Given the description of an element on the screen output the (x, y) to click on. 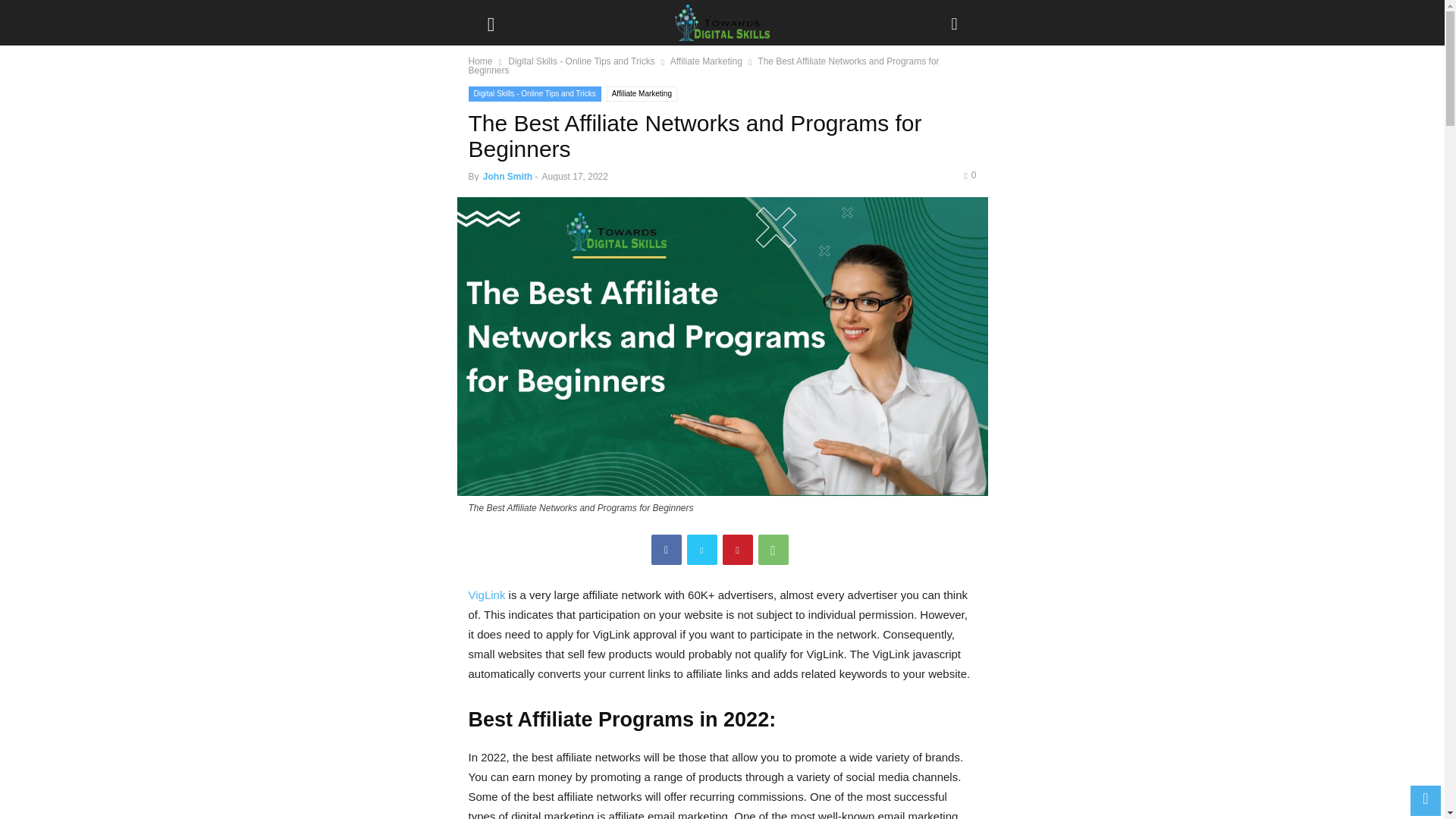
Digital Skills - Online Tips and Tricks (580, 61)
View all posts in Digital Skills - Online Tips and Tricks (580, 61)
Pinterest (737, 549)
Home (480, 61)
View all posts in Affiliate Marketing (705, 61)
John Smith (507, 176)
Twitter (702, 549)
towards digital skills (722, 22)
Affiliate Marketing (642, 93)
WhatsApp (773, 549)
Affiliate Marketing (705, 61)
towards digital skills (722, 22)
0 (969, 174)
VigLink (486, 594)
